Given the description of an element on the screen output the (x, y) to click on. 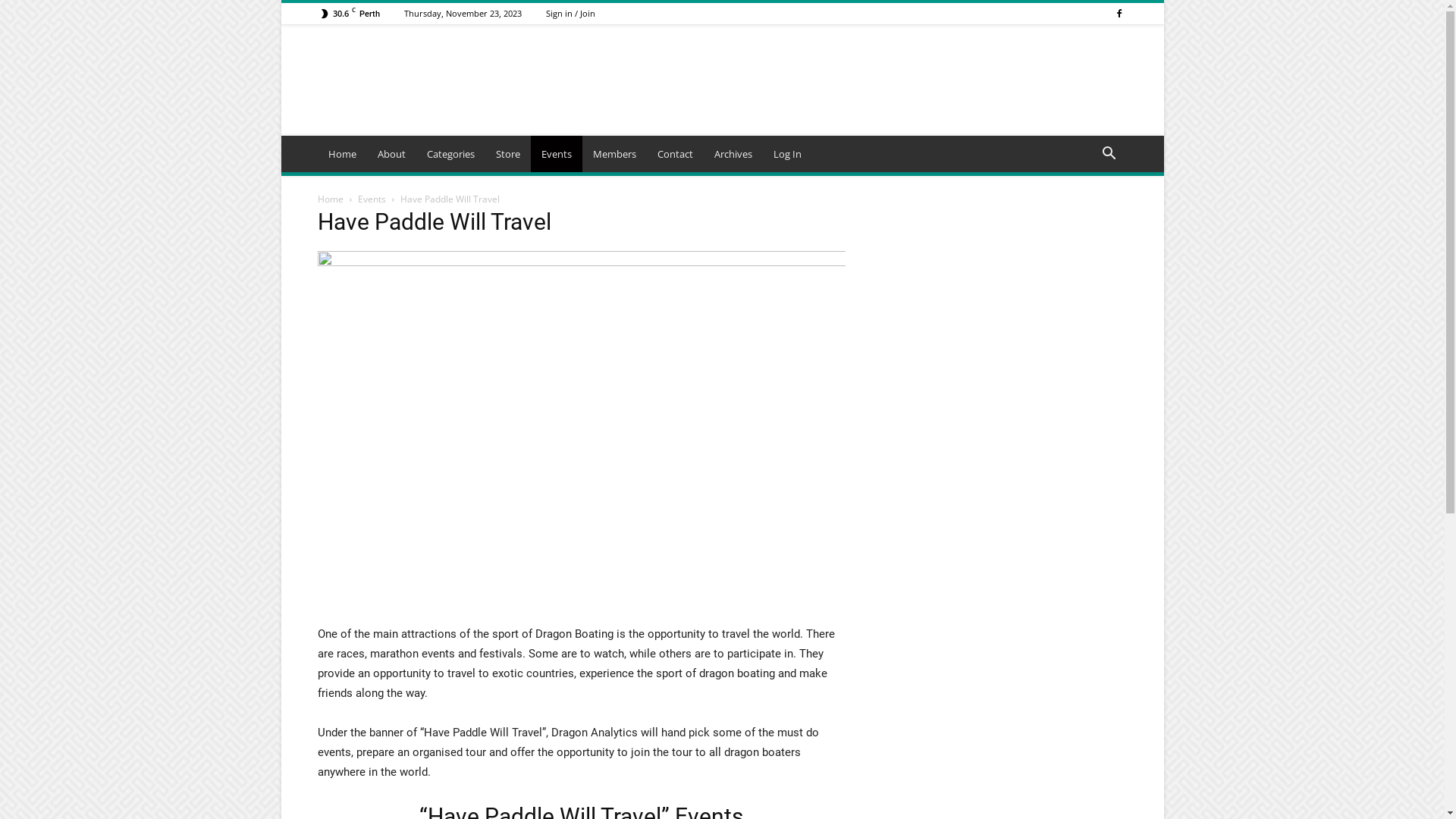
Home Element type: text (341, 153)
Facebook Element type: hover (1118, 13)
Archives Element type: text (732, 153)
About Element type: text (391, 153)
Home Element type: text (329, 198)
Members Element type: text (614, 153)
Search Element type: text (1083, 214)
Events Element type: text (371, 198)
Categories Element type: text (449, 153)
Sign in / Join Element type: text (570, 12)
Store Element type: text (507, 153)
Contact Element type: text (674, 153)
Events Element type: text (556, 153)
Log In Element type: text (787, 153)
